Given the description of an element on the screen output the (x, y) to click on. 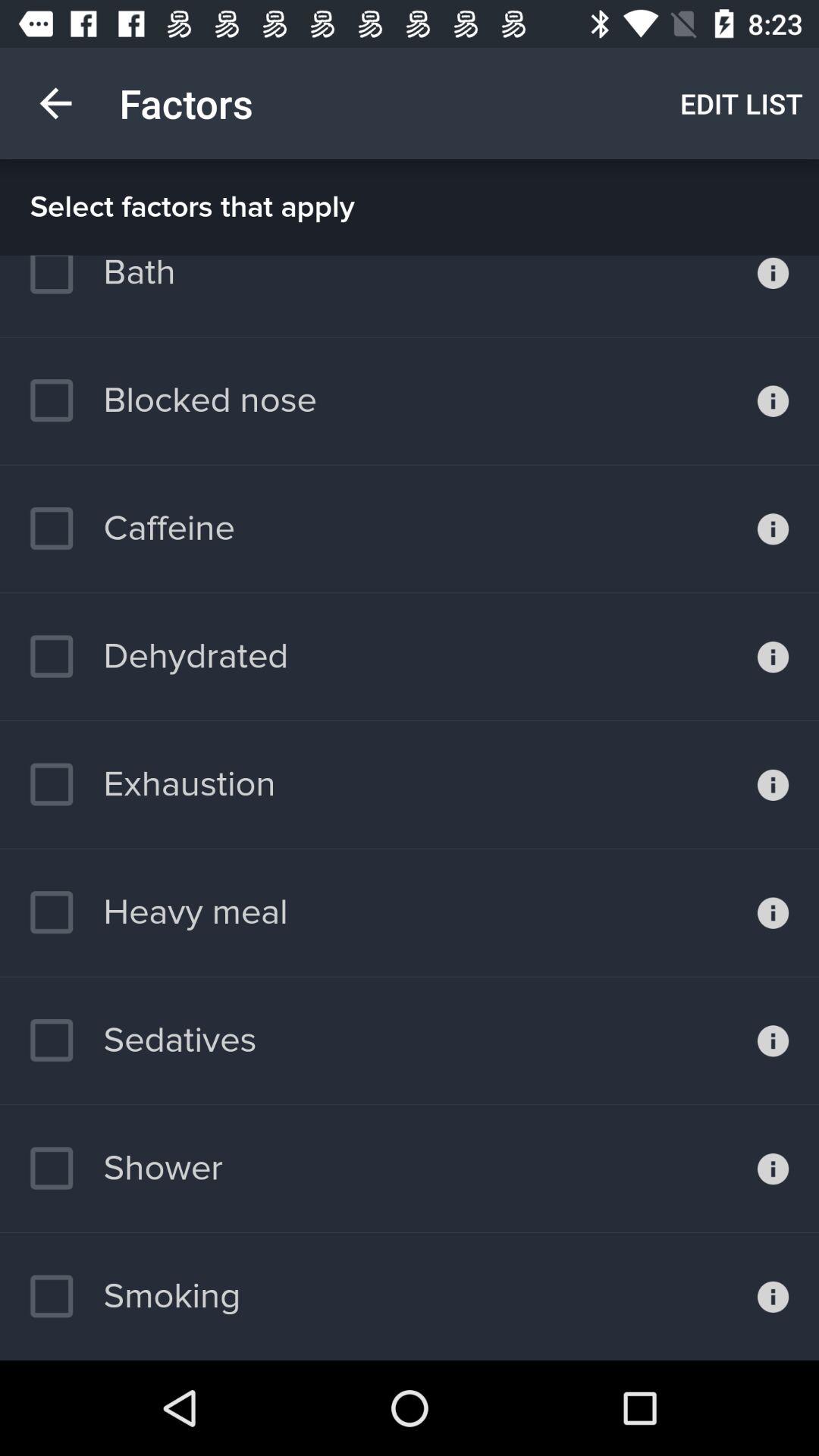
info button (773, 784)
